Given the description of an element on the screen output the (x, y) to click on. 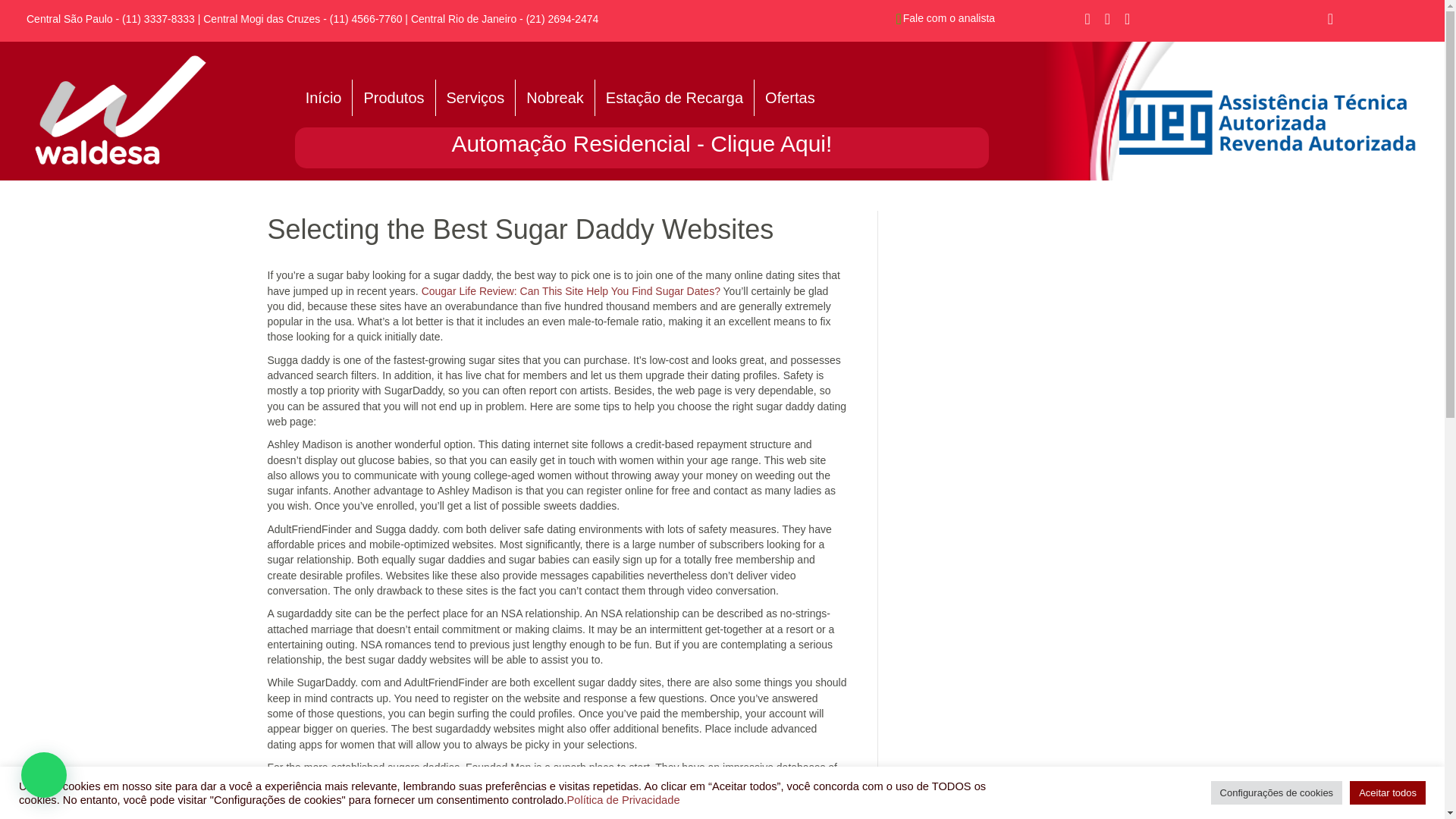
Fale com o analista (948, 17)
Nobreak (554, 97)
Produtos (392, 97)
1 (120, 110)
Ofertas (789, 97)
